Given the description of an element on the screen output the (x, y) to click on. 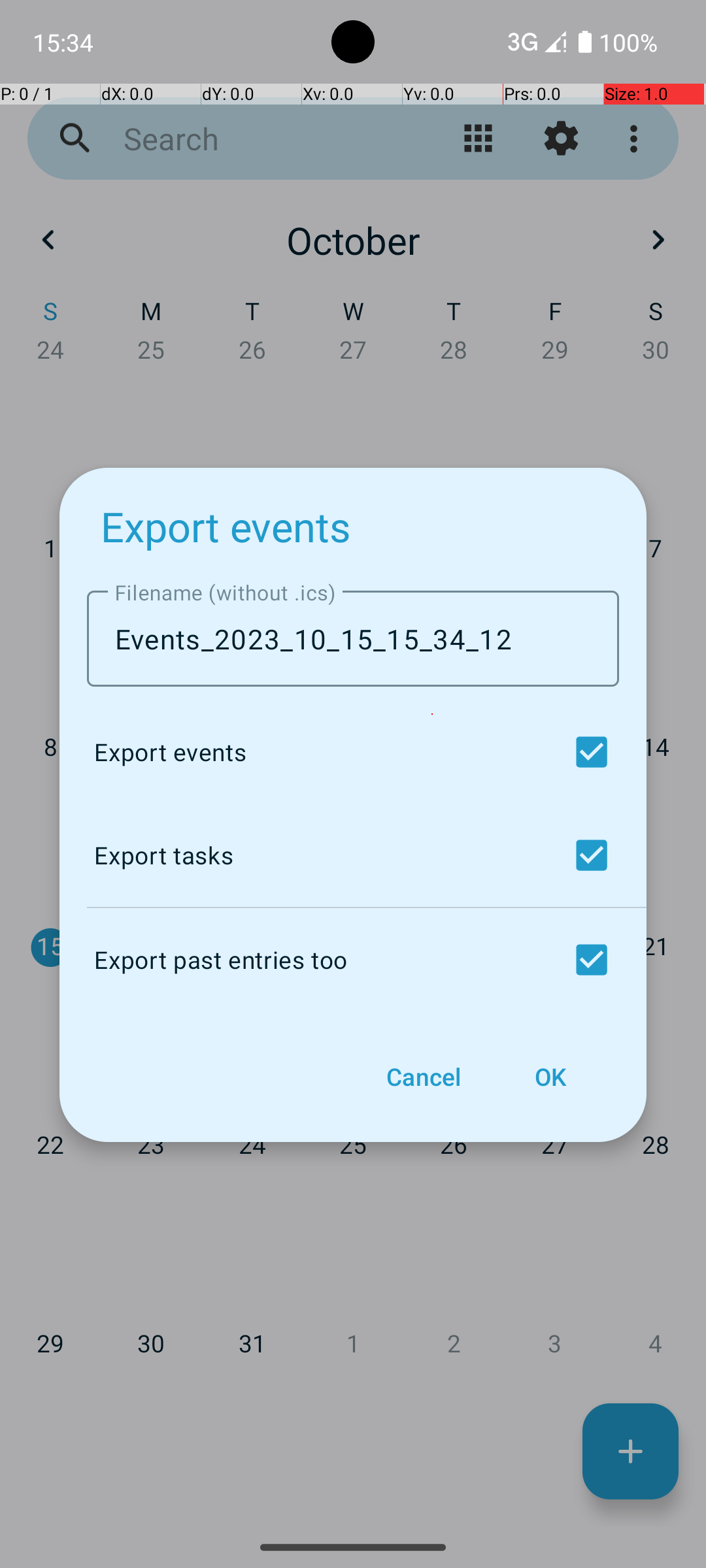
Export events Element type: android.widget.TextView (225, 526)
Events_2023_10_15_15_34_12 Element type: android.widget.EditText (352, 638)
Export tasks Element type: android.widget.CheckBox (349, 855)
Export past entries too Element type: android.widget.CheckBox (349, 959)
